Given the description of an element on the screen output the (x, y) to click on. 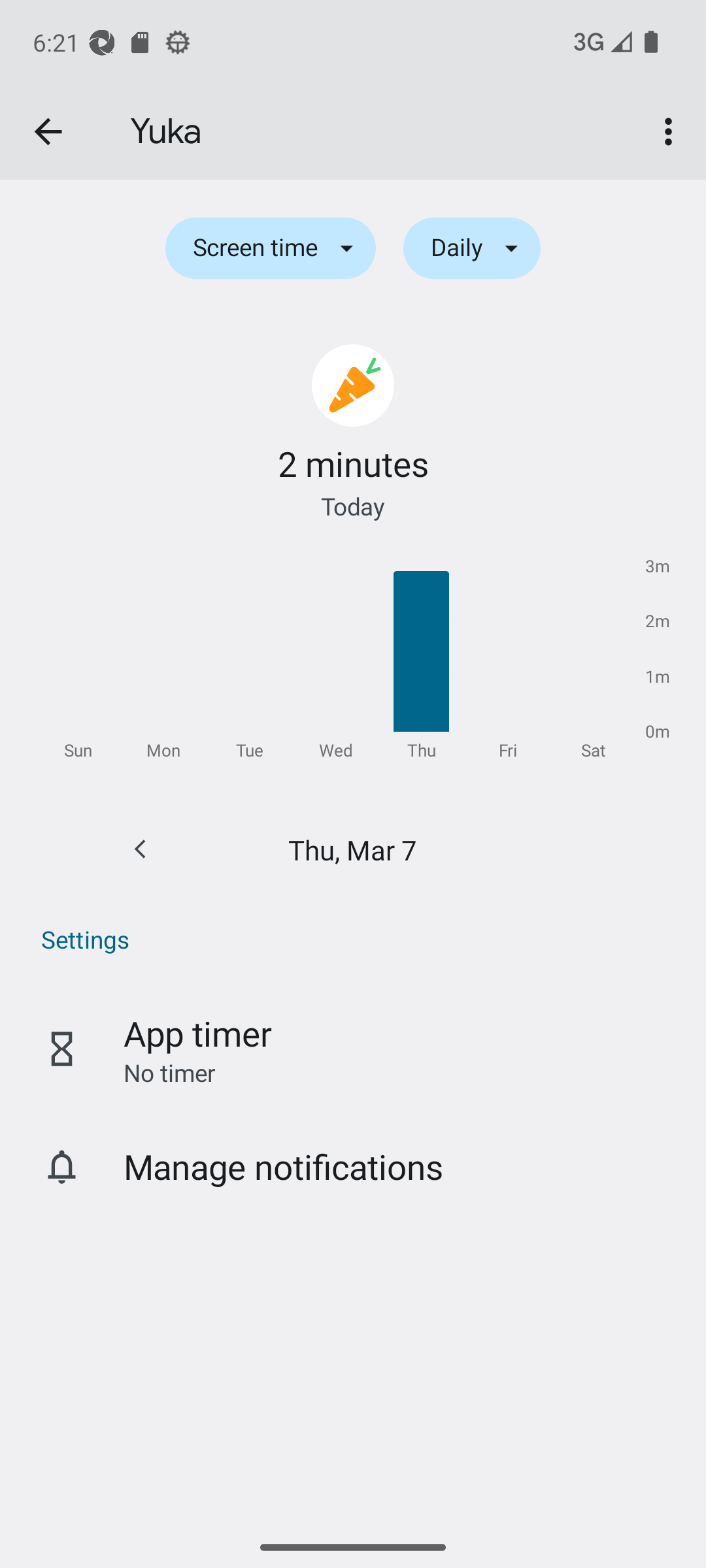
Navigate up (48, 131)
More options (671, 131)
Screen time (270, 248)
Daily (471, 248)
Go to the previous day (139, 848)
App timer No timer (353, 1049)
Manage notifications (353, 1166)
